Given the description of an element on the screen output the (x, y) to click on. 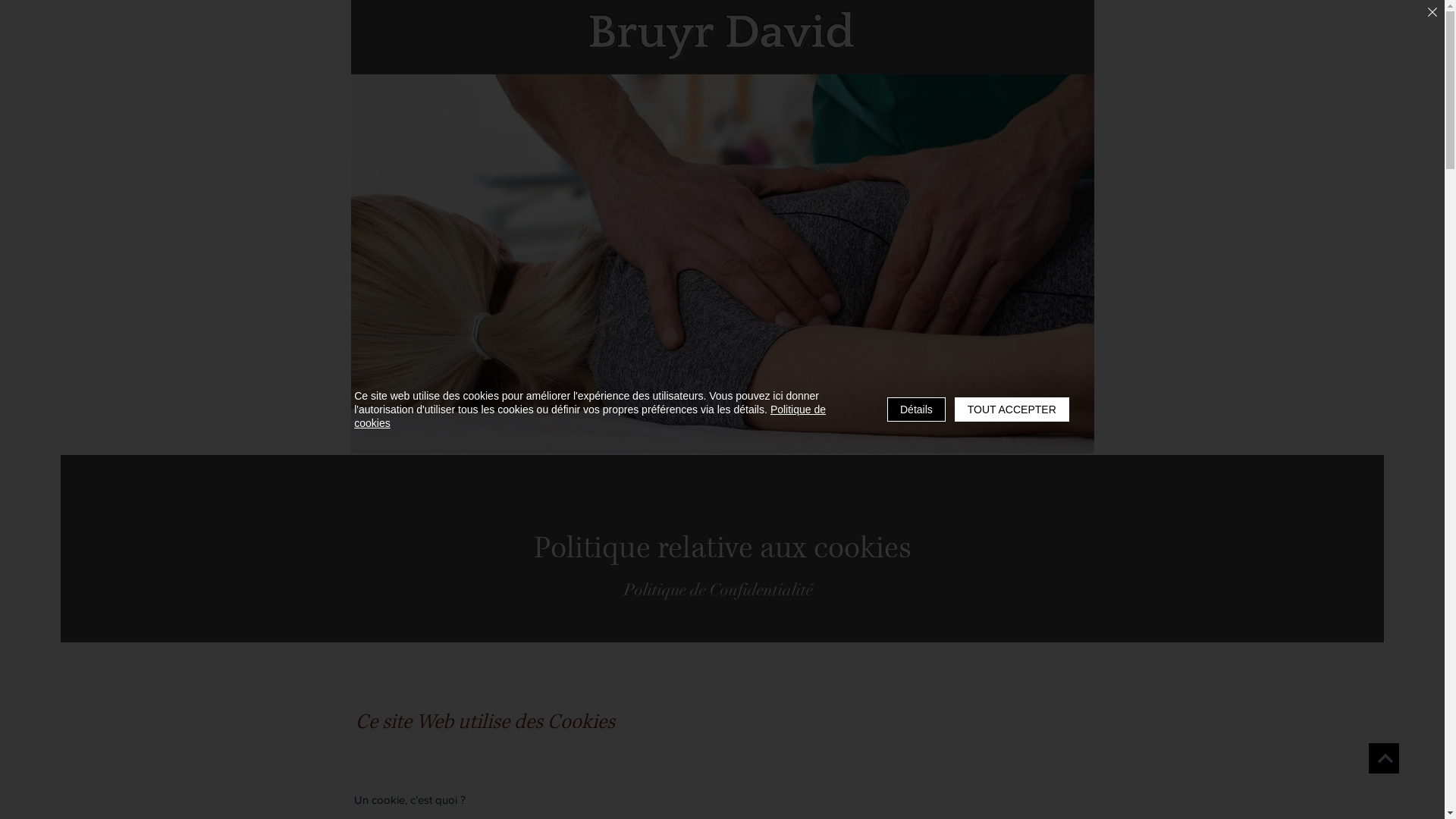
Politique de cookies Element type: text (589, 416)
TOUT ACCEPTER Element type: text (1011, 409)
